Given the description of an element on the screen output the (x, y) to click on. 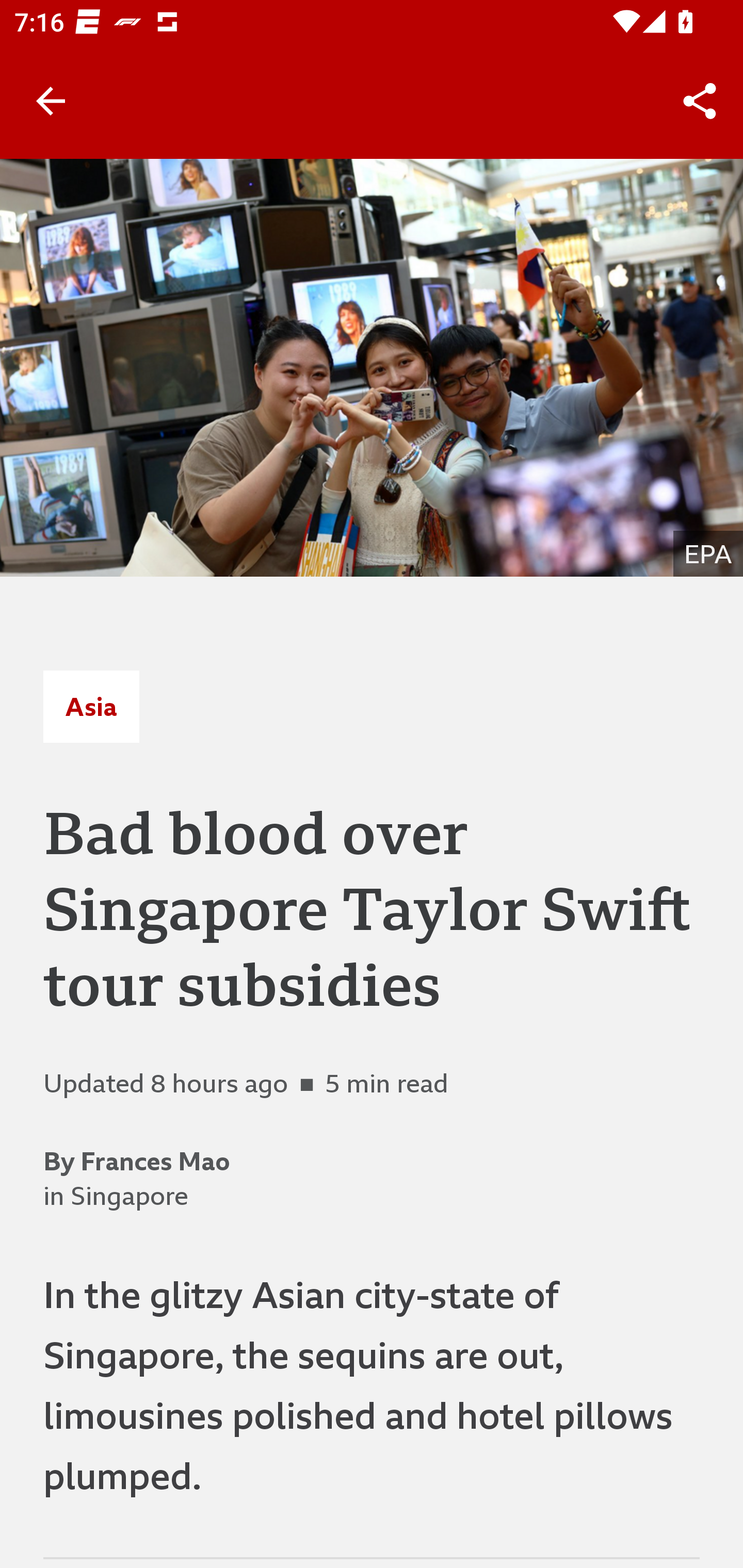
Back (50, 101)
Share (699, 101)
Asia (91, 706)
